Given the description of an element on the screen output the (x, y) to click on. 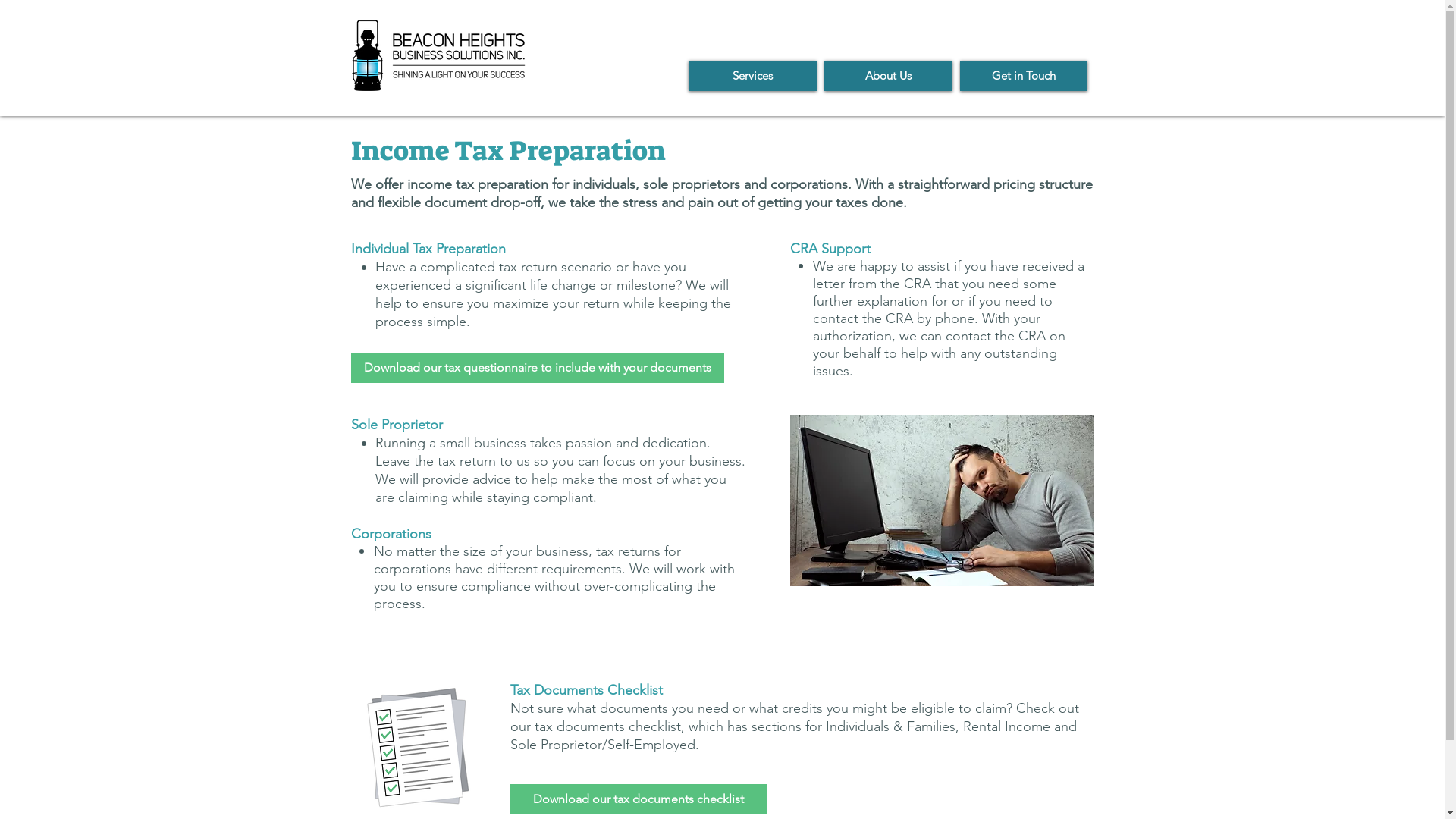
Download our tax documents checklist Element type: text (637, 799)
BHBS logo - no border.png Element type: hover (437, 55)
About Us Element type: text (887, 75)
Get in Touch Element type: text (1023, 75)
checklist-01.png Element type: hover (417, 747)
Tax Preparation and CRA Support Element type: hover (941, 500)
